Given the description of an element on the screen output the (x, y) to click on. 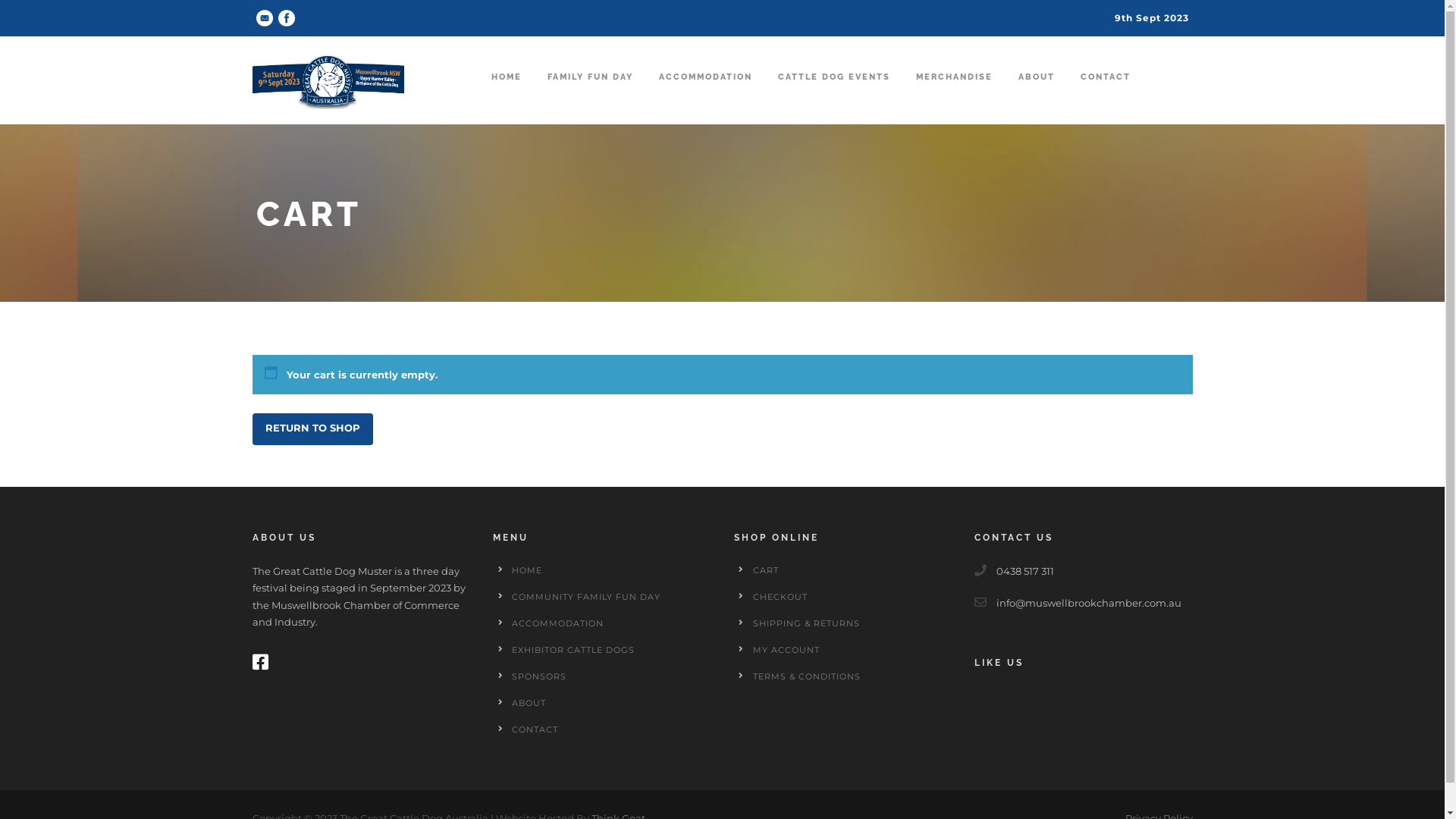
CONTACT Element type: text (534, 729)
SPONSORS Element type: text (538, 676)
CATTLE DOG EVENTS Element type: text (834, 91)
CART Element type: text (765, 569)
ACCOMMODATION Element type: text (704, 91)
ABOUT Element type: text (1035, 91)
ACCOMMODATION Element type: text (557, 623)
SHIPPING & RETURNS Element type: text (805, 623)
EXHIBITOR CATTLE DOGS Element type: text (572, 649)
COMMUNITY FAMILY FUN DAY Element type: text (585, 596)
CONTACT Element type: text (1104, 91)
MERCHANDISE Element type: text (954, 91)
HOME Element type: text (506, 91)
FAMILY FUN DAY Element type: text (590, 91)
CHECKOUT Element type: text (779, 596)
MY ACCOUNT Element type: text (785, 649)
RETURN TO SHOP Element type: text (311, 429)
HOME Element type: text (526, 569)
TERMS & CONDITIONS Element type: text (805, 676)
ABOUT Element type: text (528, 702)
